Given the description of an element on the screen output the (x, y) to click on. 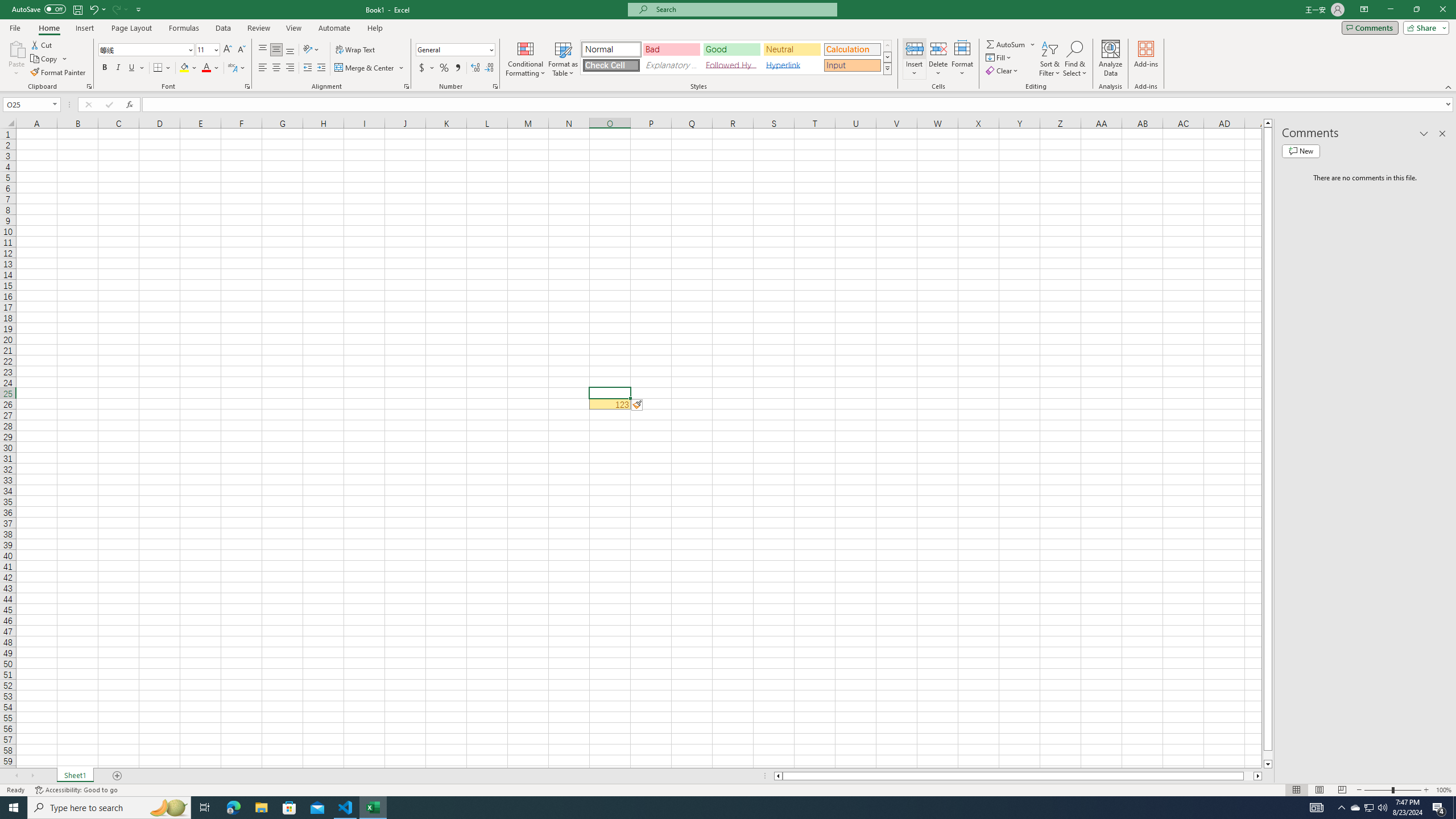
Formula Bar (799, 104)
Ribbon Display Options (1364, 9)
